Given the description of an element on the screen output the (x, y) to click on. 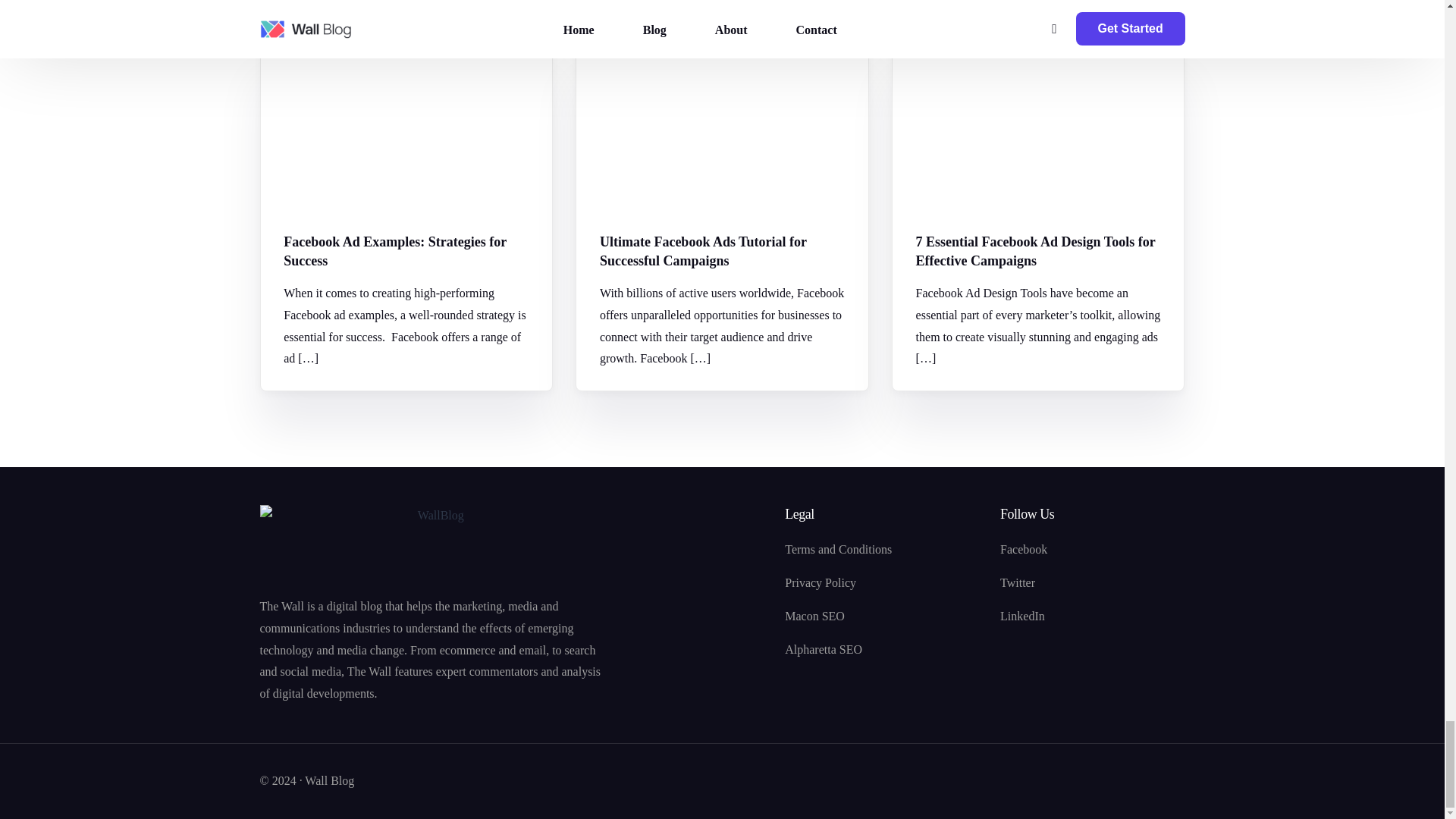
View Post: Facebook Ad Examples: Strategies for Success  (405, 251)
 View Post: Facebook Ad Examples: Strategies for Success (406, 128)
